Given the description of an element on the screen output the (x, y) to click on. 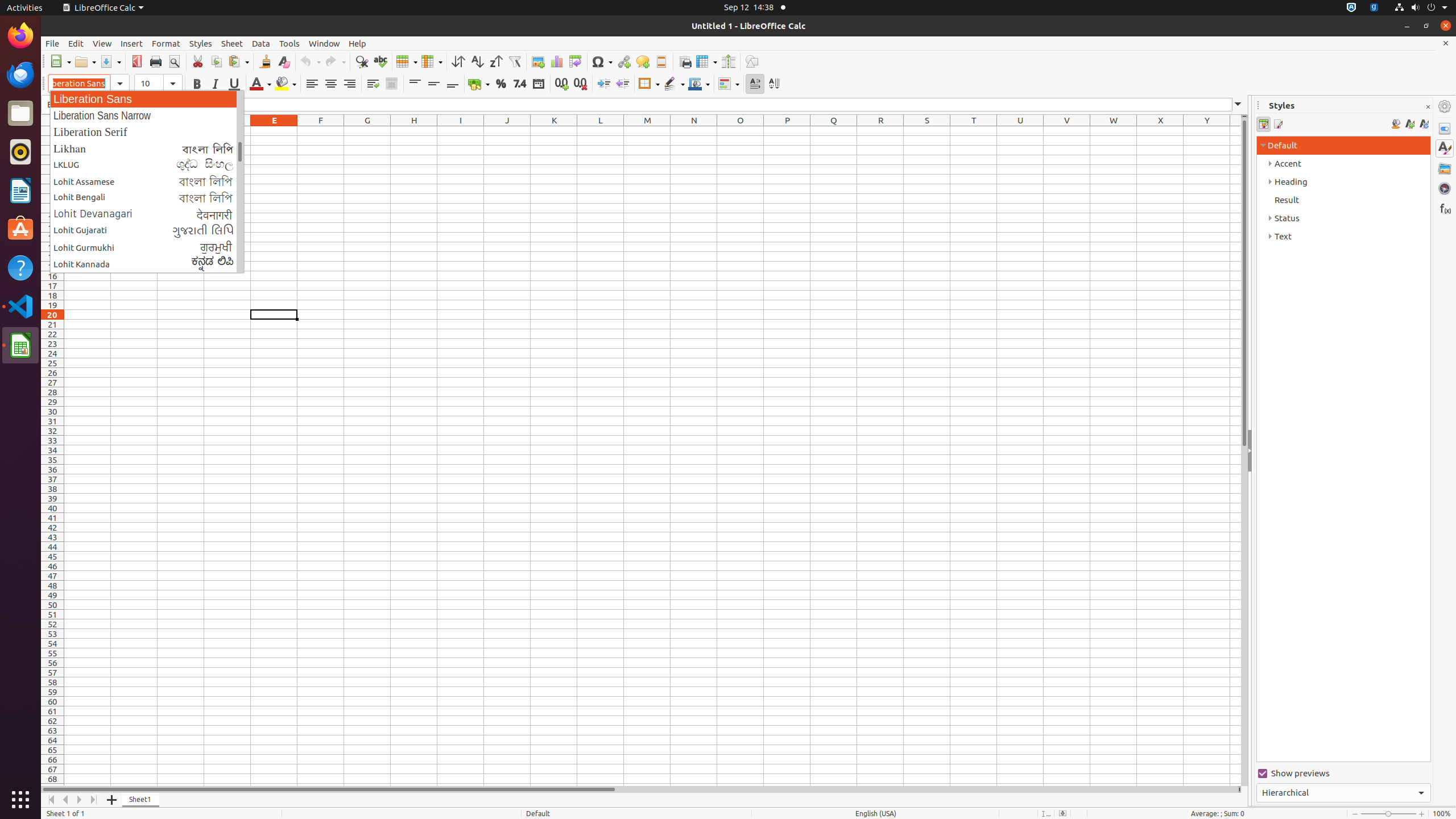
S1 Element type: table-cell (926, 130)
Liberation Sans Element type: list-item (146, 98)
Sort Element type: push-button (457, 61)
Copy Element type: push-button (216, 61)
U1 Element type: table-cell (1020, 130)
